Given the description of an element on the screen output the (x, y) to click on. 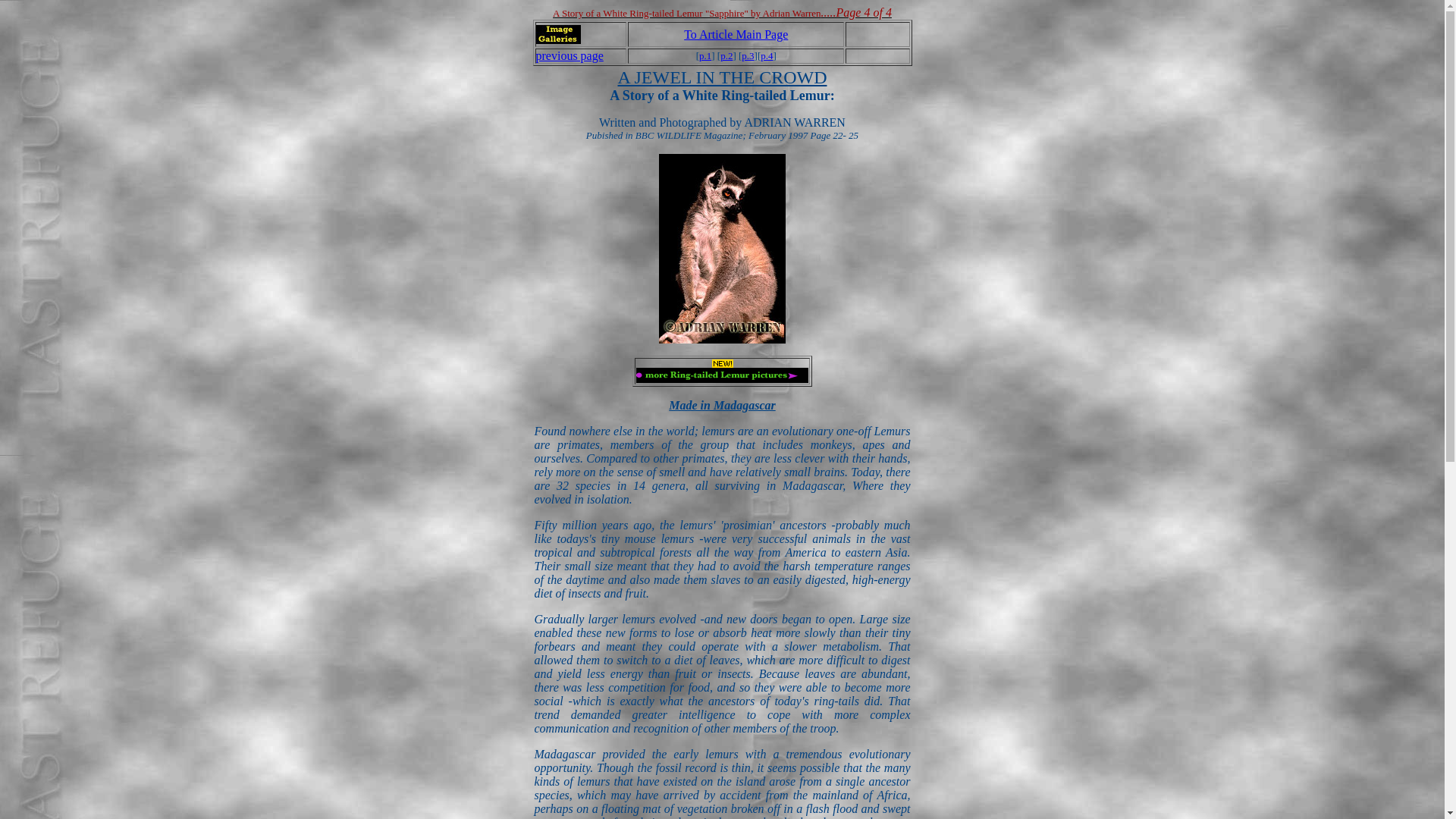
p.2 (726, 55)
To Article Main Page (735, 33)
p.3 (747, 55)
previous page (568, 55)
p.1 (704, 55)
p.4 (766, 55)
